Given the description of an element on the screen output the (x, y) to click on. 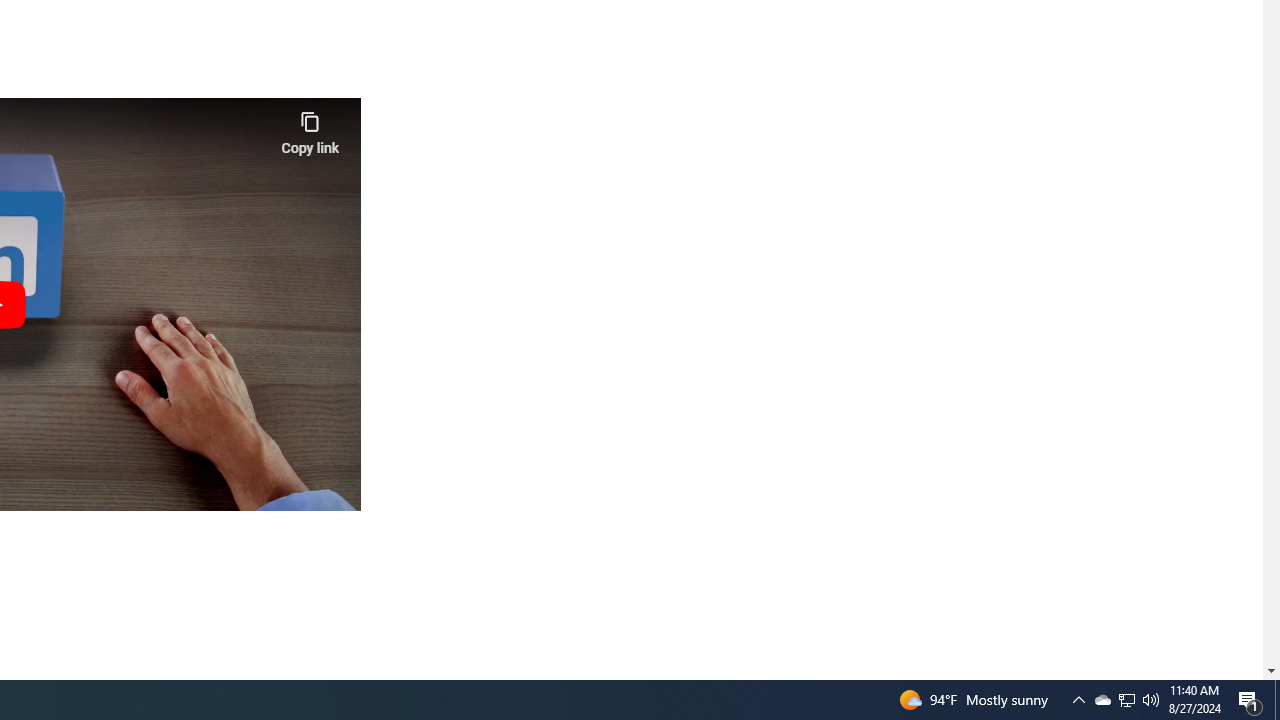
Copy link (310, 128)
